Given the description of an element on the screen output the (x, y) to click on. 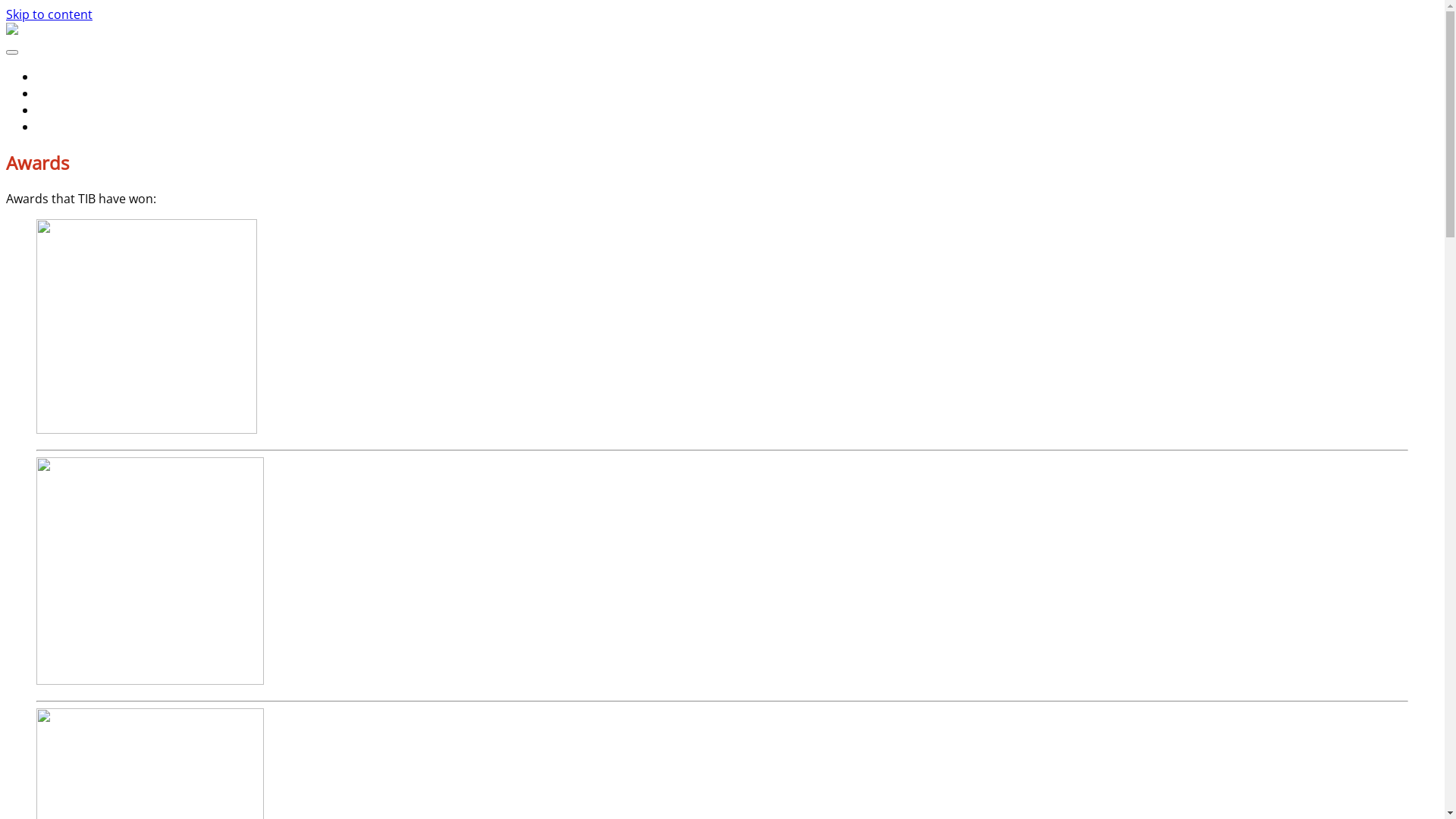
Awards Element type: text (57, 109)
Skip to content Element type: text (49, 14)
About Us Element type: text (62, 76)
Tasmanian Independent Bottlers Element type: text (144, 66)
Purchase Whisky Element type: text (84, 92)
Contact Us Element type: text (67, 126)
